Given the description of an element on the screen output the (x, y) to click on. 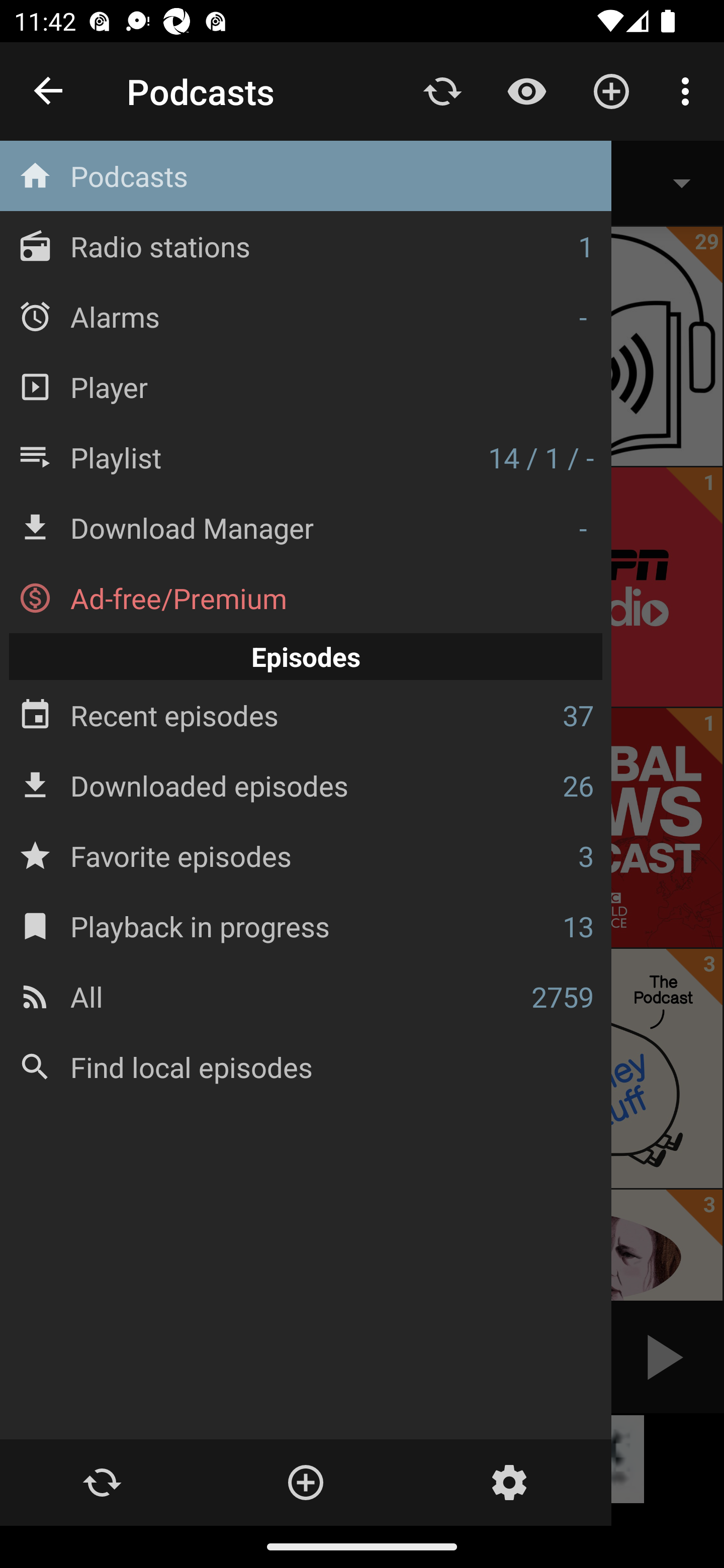
Close navigation sidebar (49, 91)
Update (442, 90)
Show / Hide played content (526, 90)
Add new Podcast (611, 90)
More options (688, 90)
Podcasts (305, 176)
Radio stations 1 (305, 245)
Alarms  -  (305, 315)
Player (305, 386)
Playlist 14 / 1 / - (305, 456)
Download Manager  -  (305, 527)
Ad-free/Premium (305, 597)
Recent episodes 37 (305, 715)
Downloaded episodes 26 (305, 785)
Favorite episodes 3 (305, 855)
Playback in progress 13 (305, 925)
All 2759 (305, 996)
Find local episodes (305, 1066)
Update (101, 1482)
Add new Podcast (304, 1482)
Settings (508, 1482)
